Given the description of an element on the screen output the (x, y) to click on. 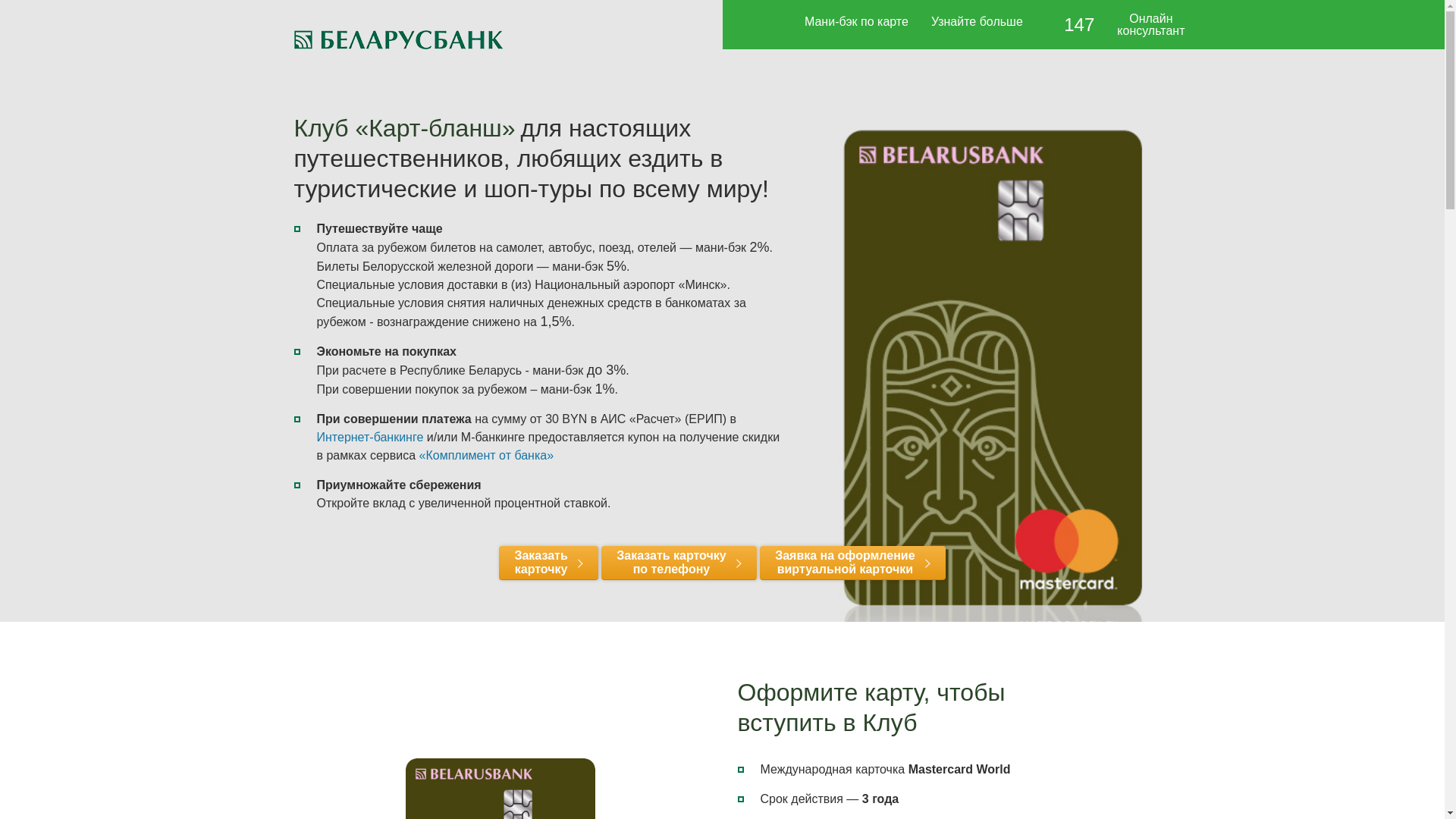
147 Element type: text (1070, 25)
